Given the description of an element on the screen output the (x, y) to click on. 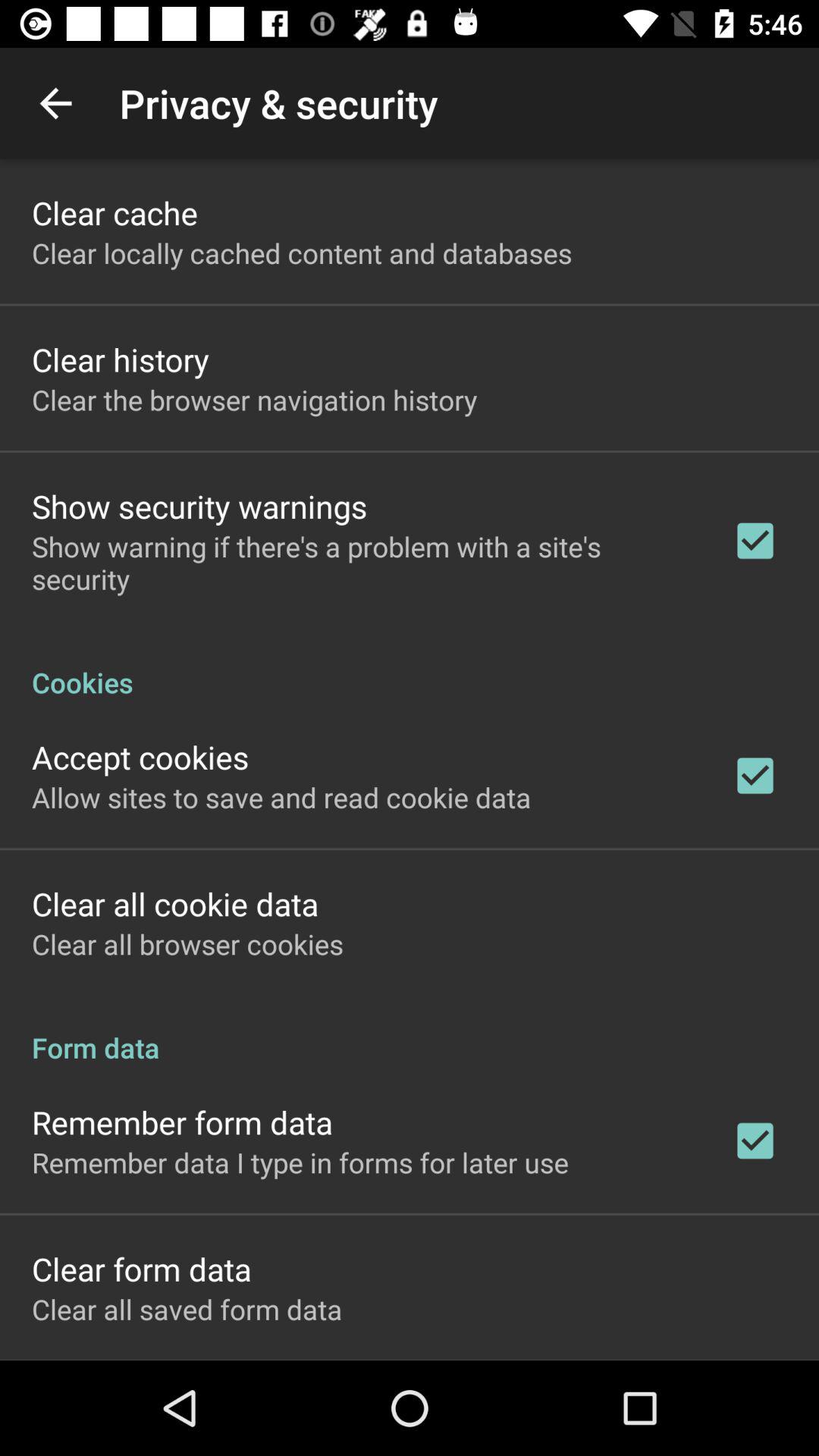
choose item to the left of the privacy & security (55, 103)
